Given the description of an element on the screen output the (x, y) to click on. 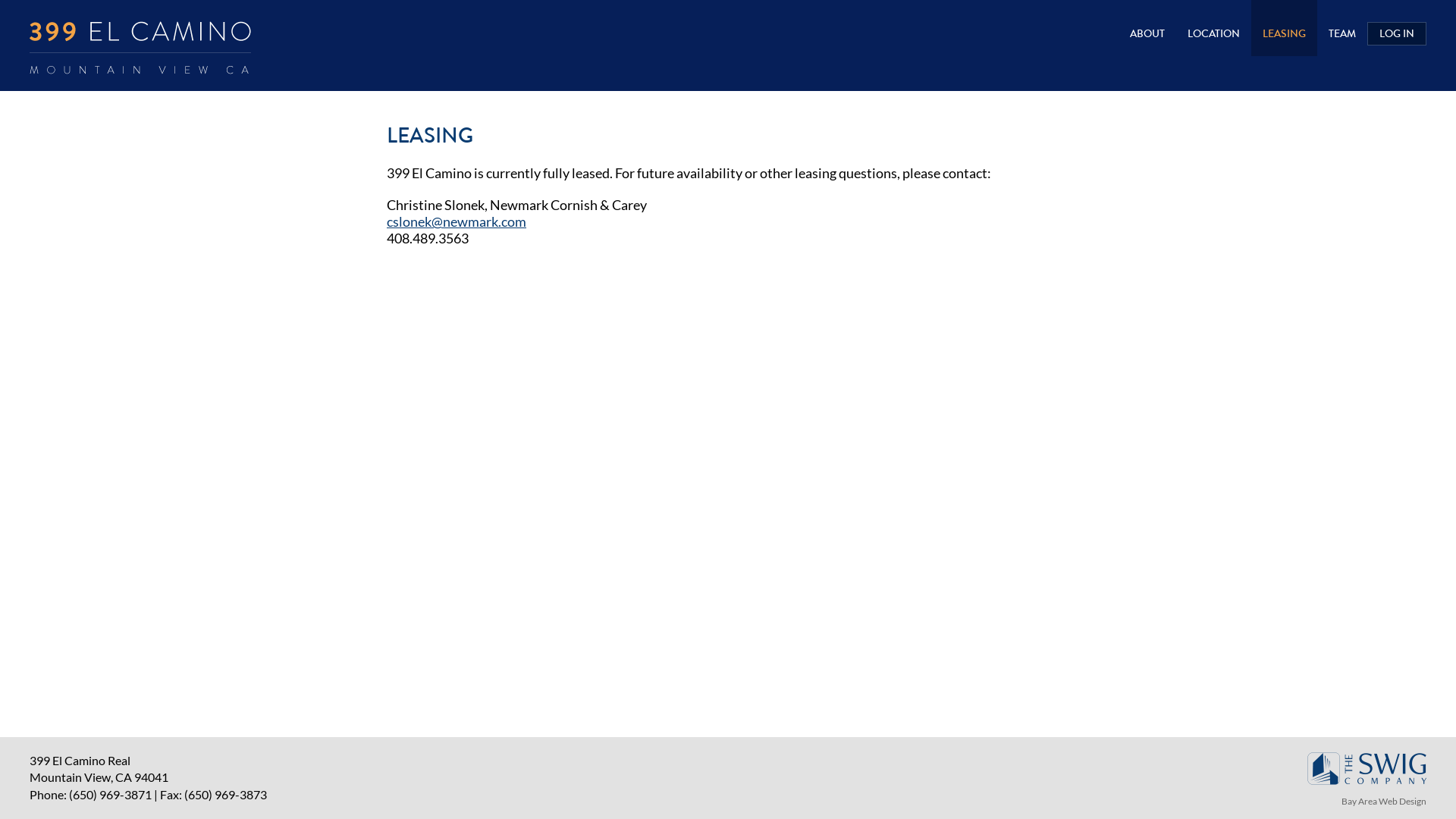
cslonek@newmark.com Element type: text (456, 221)
ABOUT Element type: text (1147, 28)
LOCATION Element type: text (1213, 28)
LEASING Element type: text (1284, 28)
TEAM Element type: text (1342, 28)
Bay Area Web Design Element type: text (1383, 800)
LOG IN Element type: text (1396, 33)
